Given the description of an element on the screen output the (x, y) to click on. 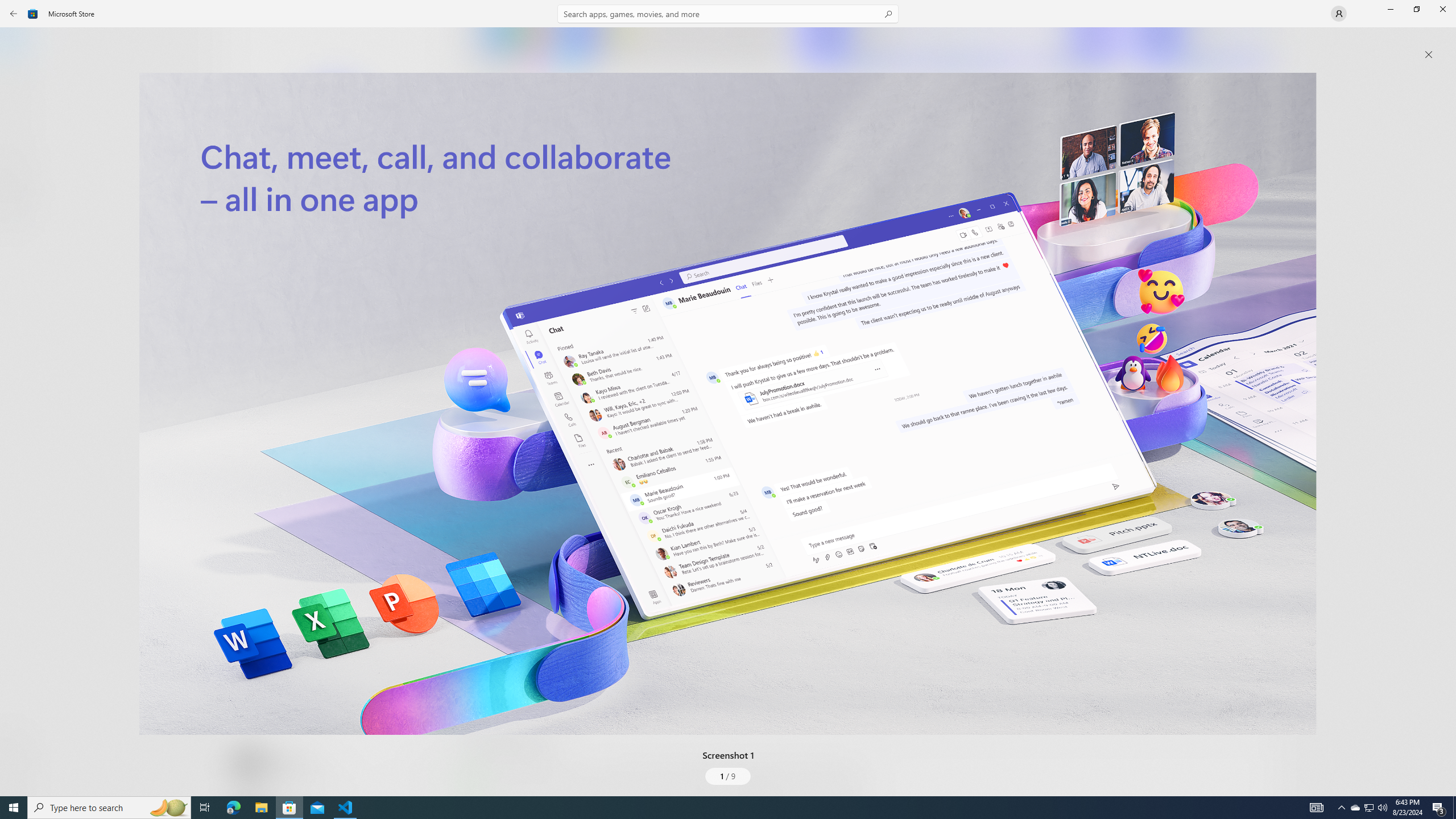
Screenshot 3 (1201, 46)
Sign in to review (501, 379)
Show more (485, 793)
AutomationID: NavigationControl (728, 398)
close popup window (1428, 54)
Search (727, 13)
Screenshot 1 (727, 403)
Share (424, 769)
Show all ratings and reviews (1253, 281)
